Given the description of an element on the screen output the (x, y) to click on. 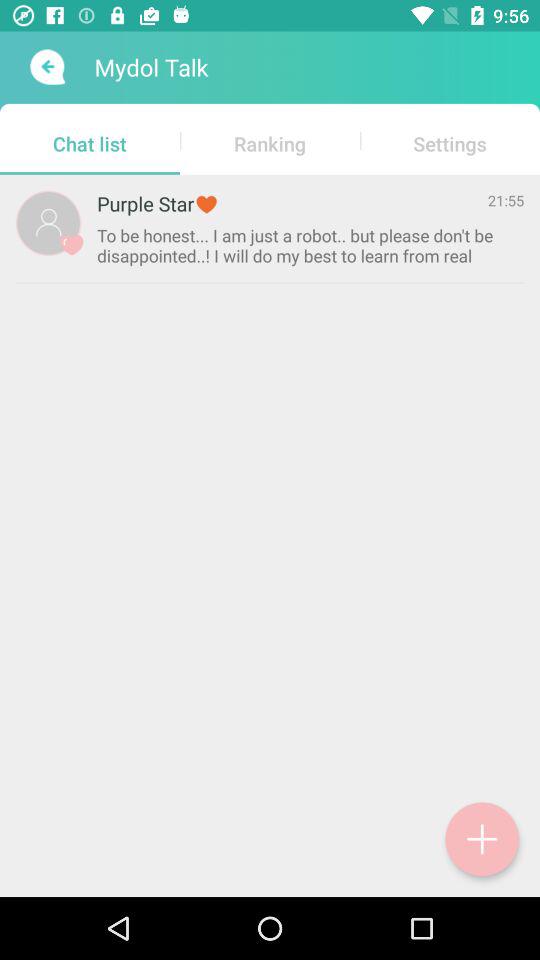
send message (45, 67)
